Given the description of an element on the screen output the (x, y) to click on. 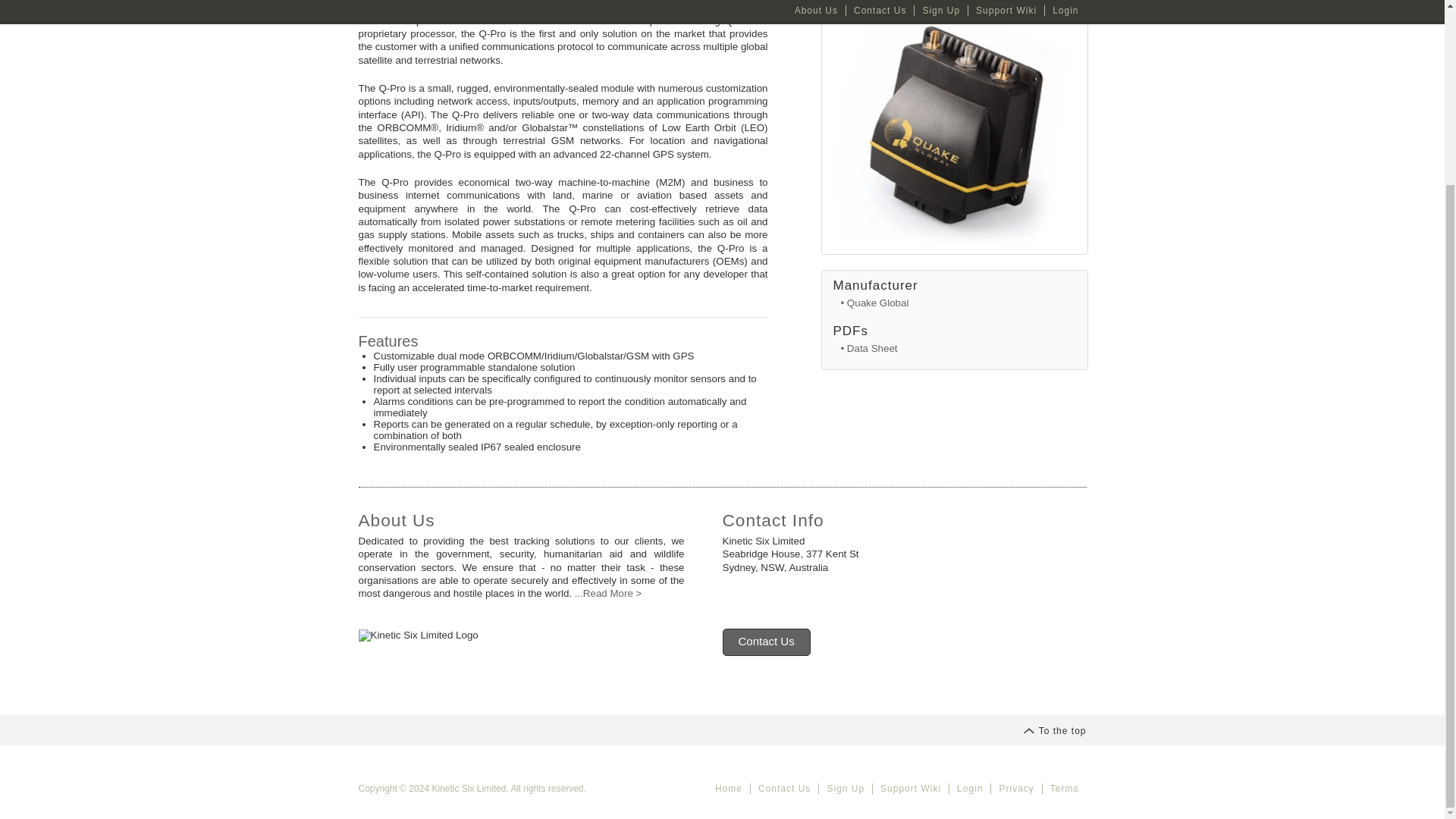
Contact Us (783, 787)
Terms (1064, 787)
Sign Up (845, 787)
Login (969, 787)
Privacy (1015, 787)
Contact Us (765, 642)
Home (728, 787)
Support Wiki (910, 787)
To the top (1054, 730)
